Given the description of an element on the screen output the (x, y) to click on. 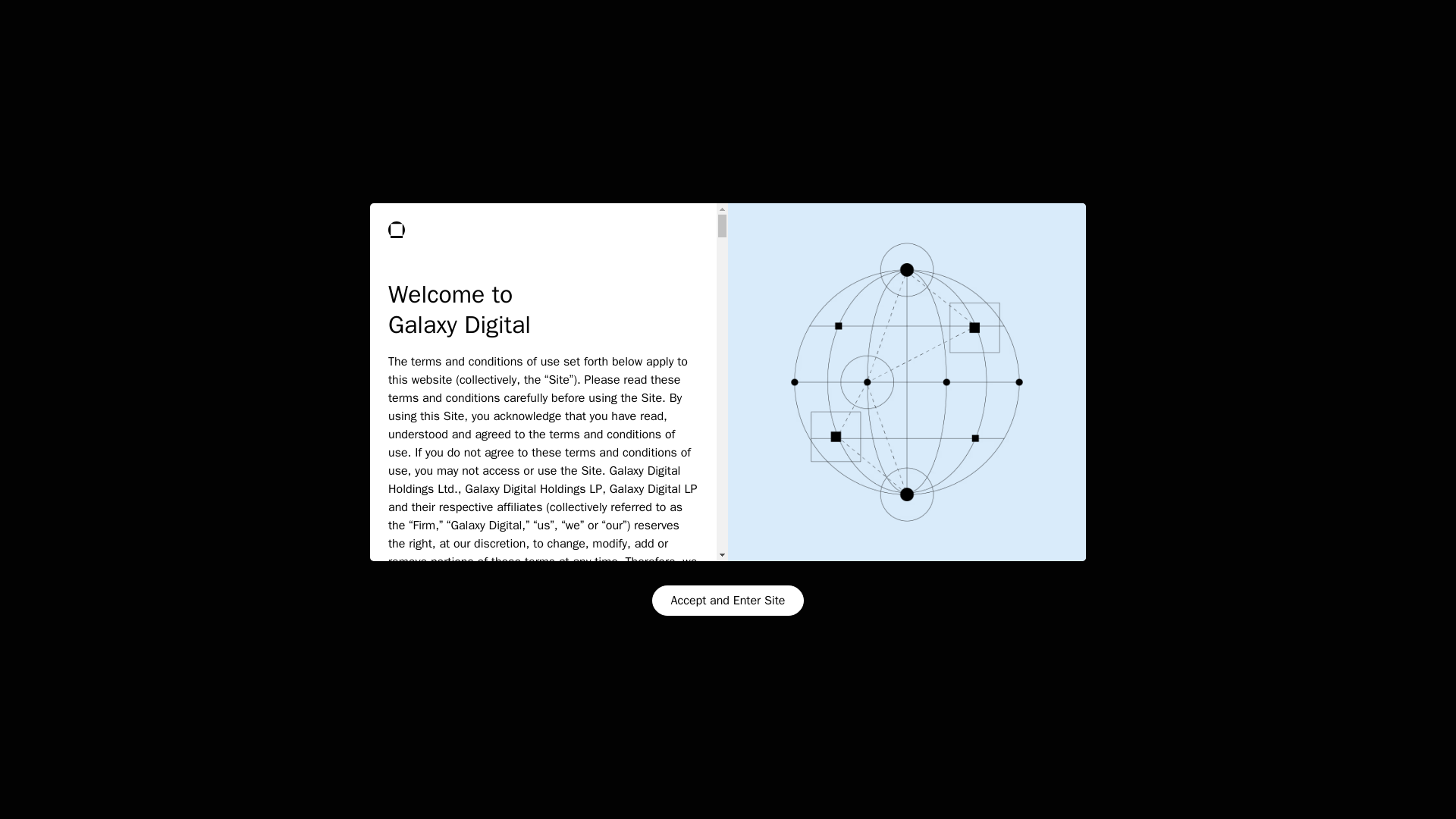
0 (663, 247)
Cookies Policy (278, 747)
1 (1137, 247)
Show Details (186, 789)
